Given the description of an element on the screen output the (x, y) to click on. 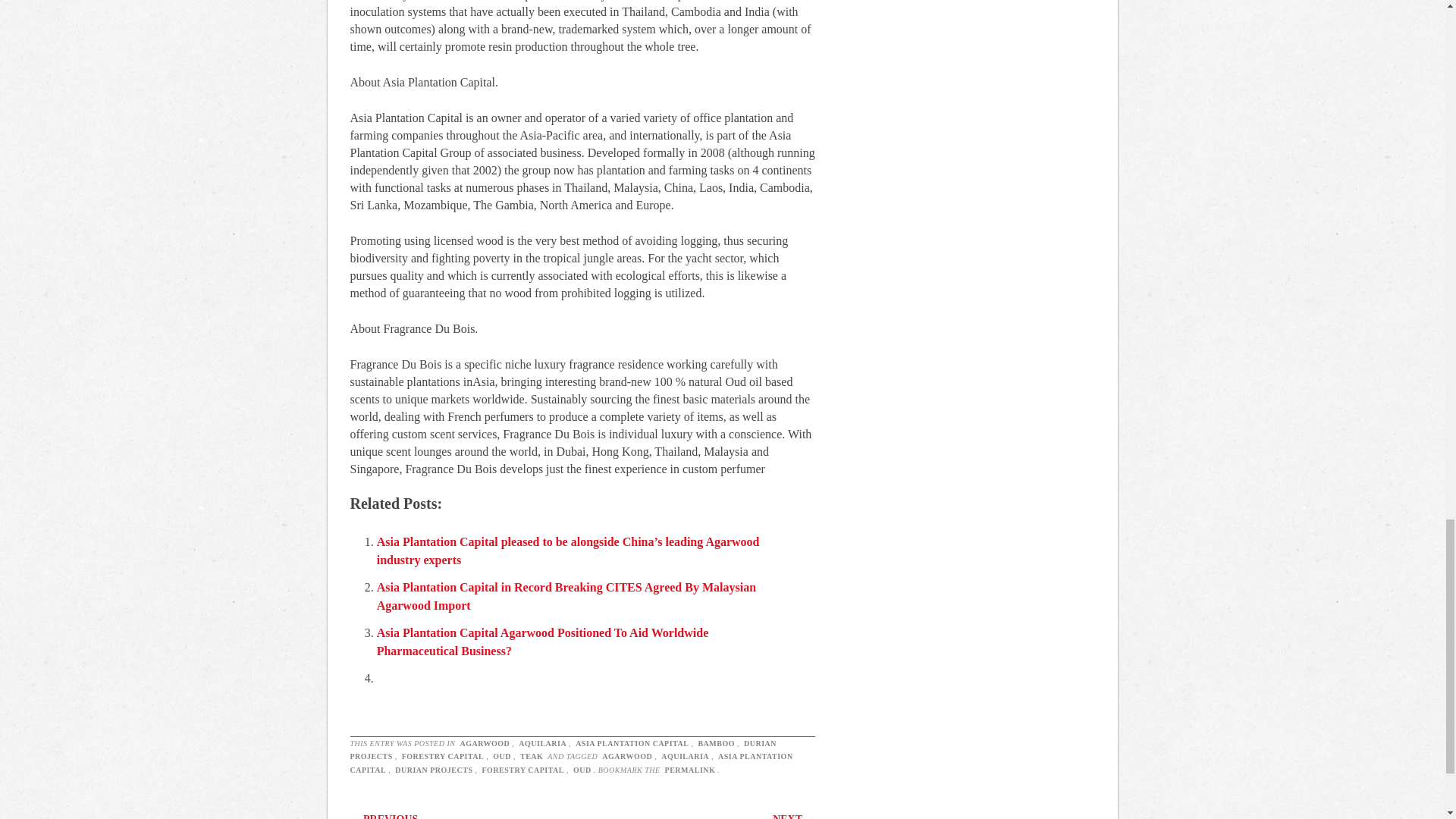
PERMALINK (689, 769)
OUD (582, 769)
AGARWOOD (484, 743)
FORESTRY CAPITAL (442, 756)
DURIAN PROJECTS (563, 750)
FORESTRY CAPITAL (522, 769)
TEAK (531, 756)
AQUILARIA (542, 743)
AGARWOOD (626, 756)
OUD (501, 756)
DURIAN PROJECTS (433, 769)
